Given the description of an element on the screen output the (x, y) to click on. 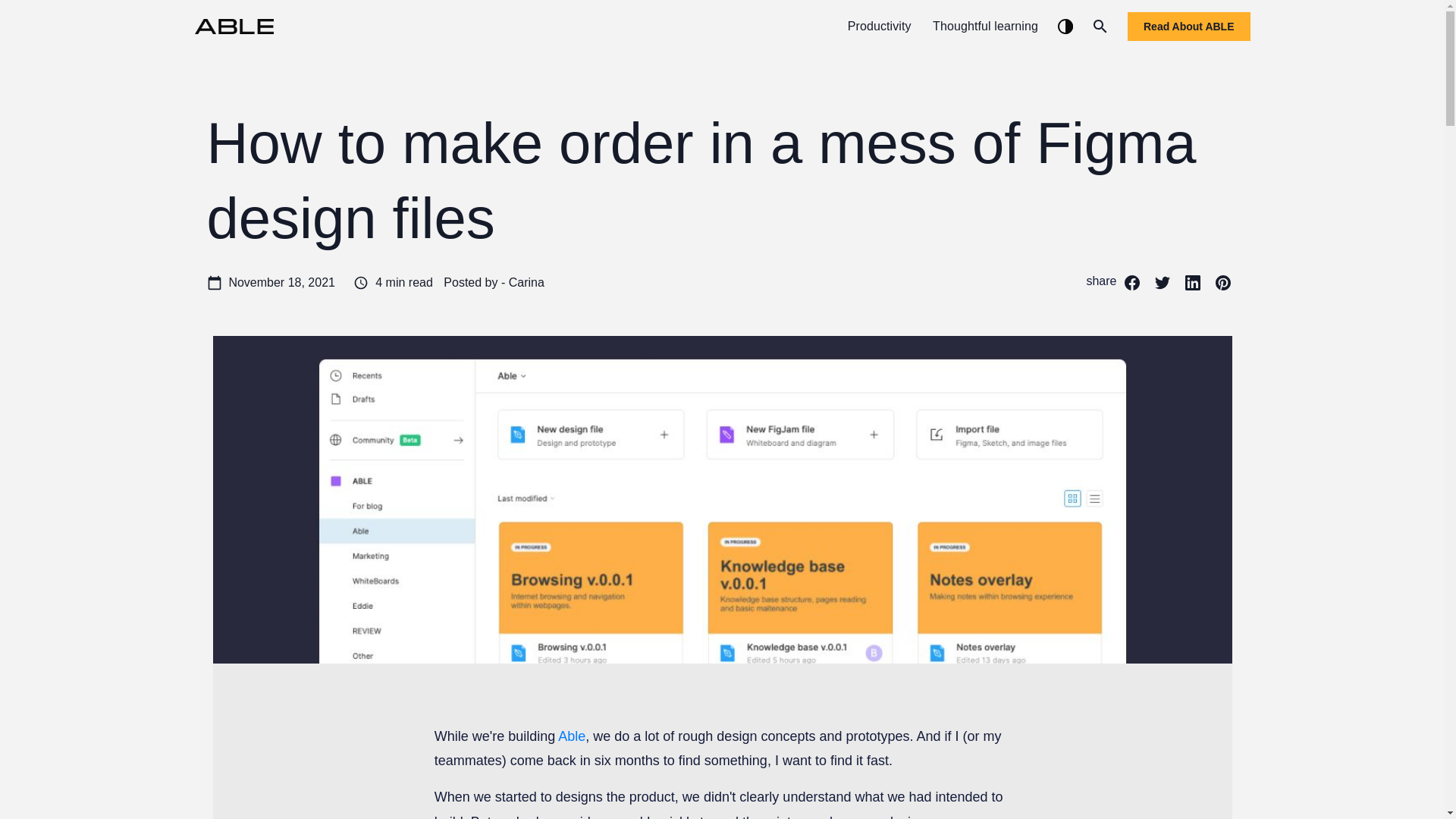
Carina (526, 282)
Thoughtful learning (985, 25)
Able (571, 735)
Read About ABLE (1188, 26)
Productivity (879, 25)
